Given the description of an element on the screen output the (x, y) to click on. 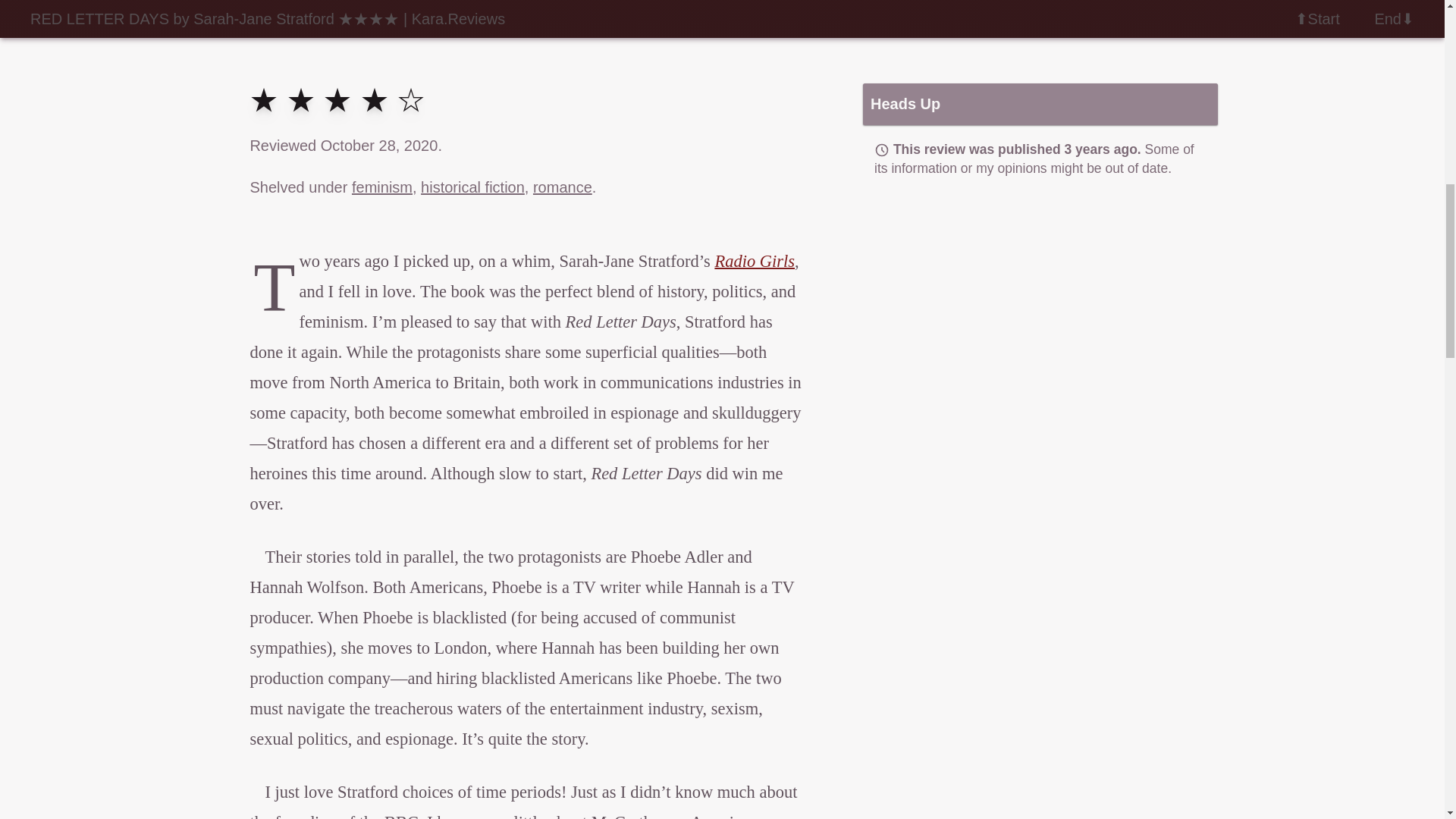
Radio Girls (754, 261)
feminism (382, 187)
romance (562, 187)
historical fiction (472, 187)
